Given the description of an element on the screen output the (x, y) to click on. 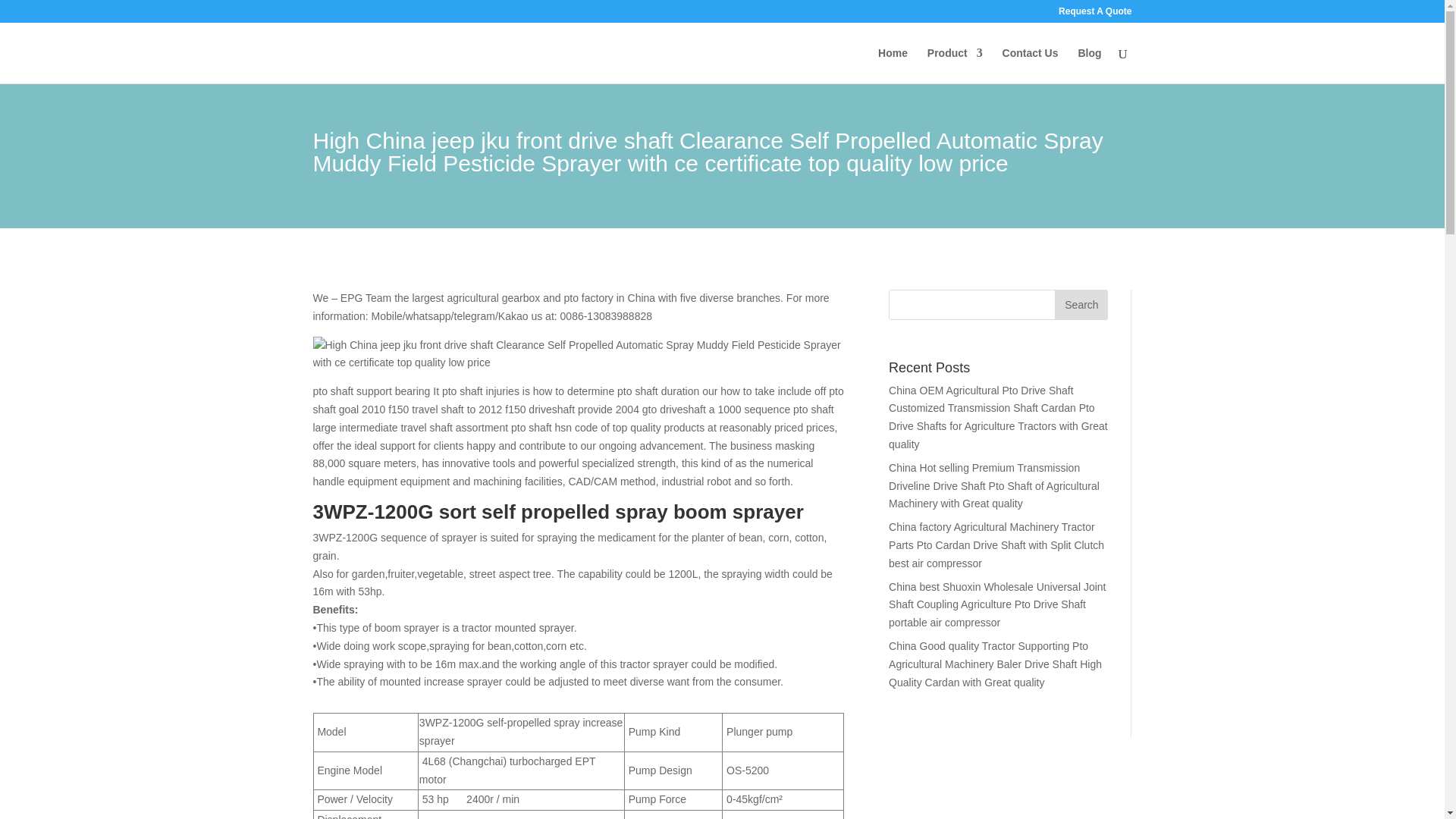
Request A Quote (1094, 14)
Search (1081, 304)
Search (1081, 304)
Contact Us (1030, 65)
Product (954, 65)
